Given the description of an element on the screen output the (x, y) to click on. 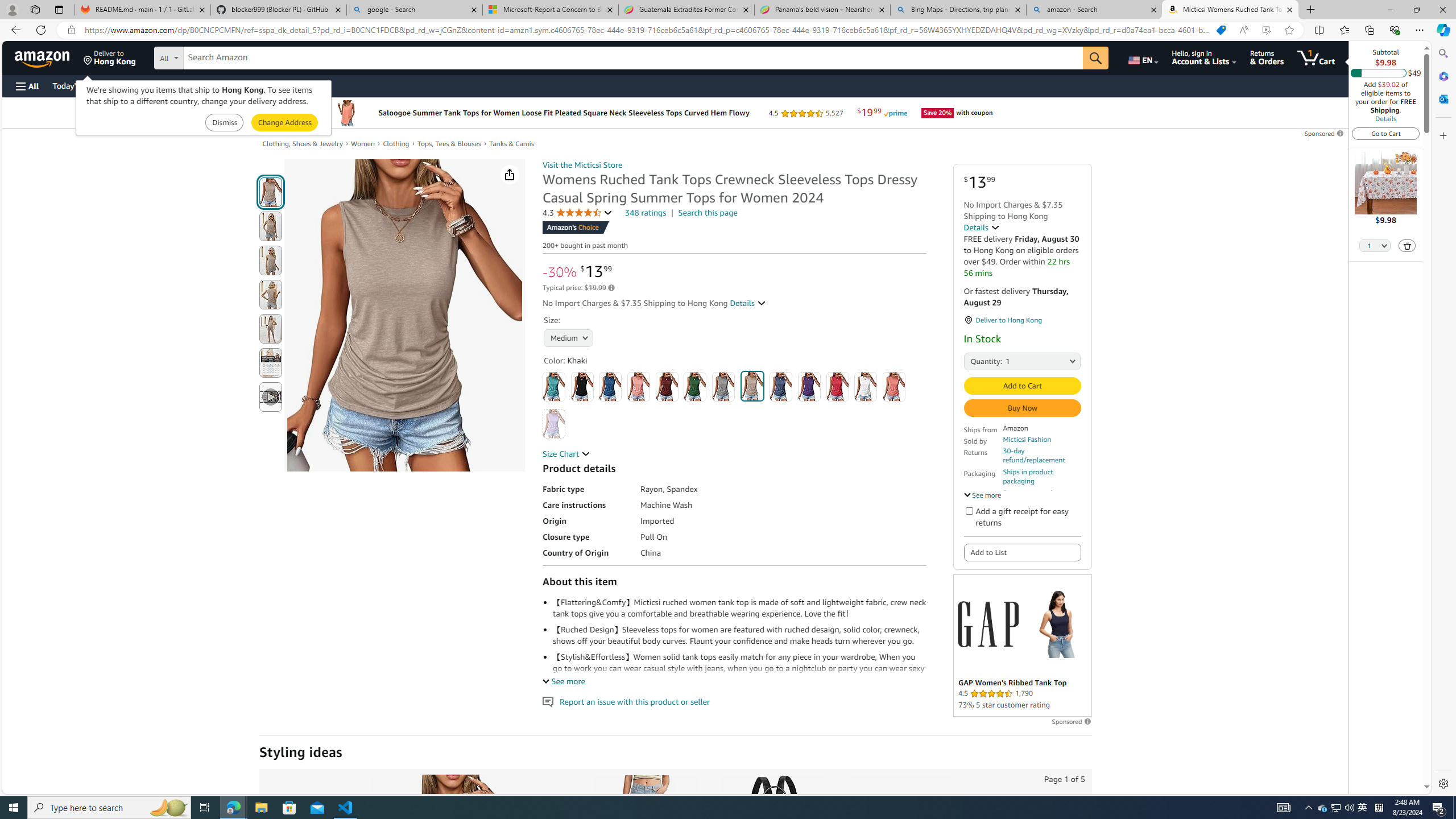
Coral (638, 386)
Dark Red (666, 386)
Dismiss (224, 122)
Aqua (553, 386)
Visit the Micticsi Store (583, 164)
Learn more about Amazon pricing and savings (610, 288)
Grey (723, 386)
Tanks & Camis (511, 143)
Khaki (751, 385)
